Given the description of an element on the screen output the (x, y) to click on. 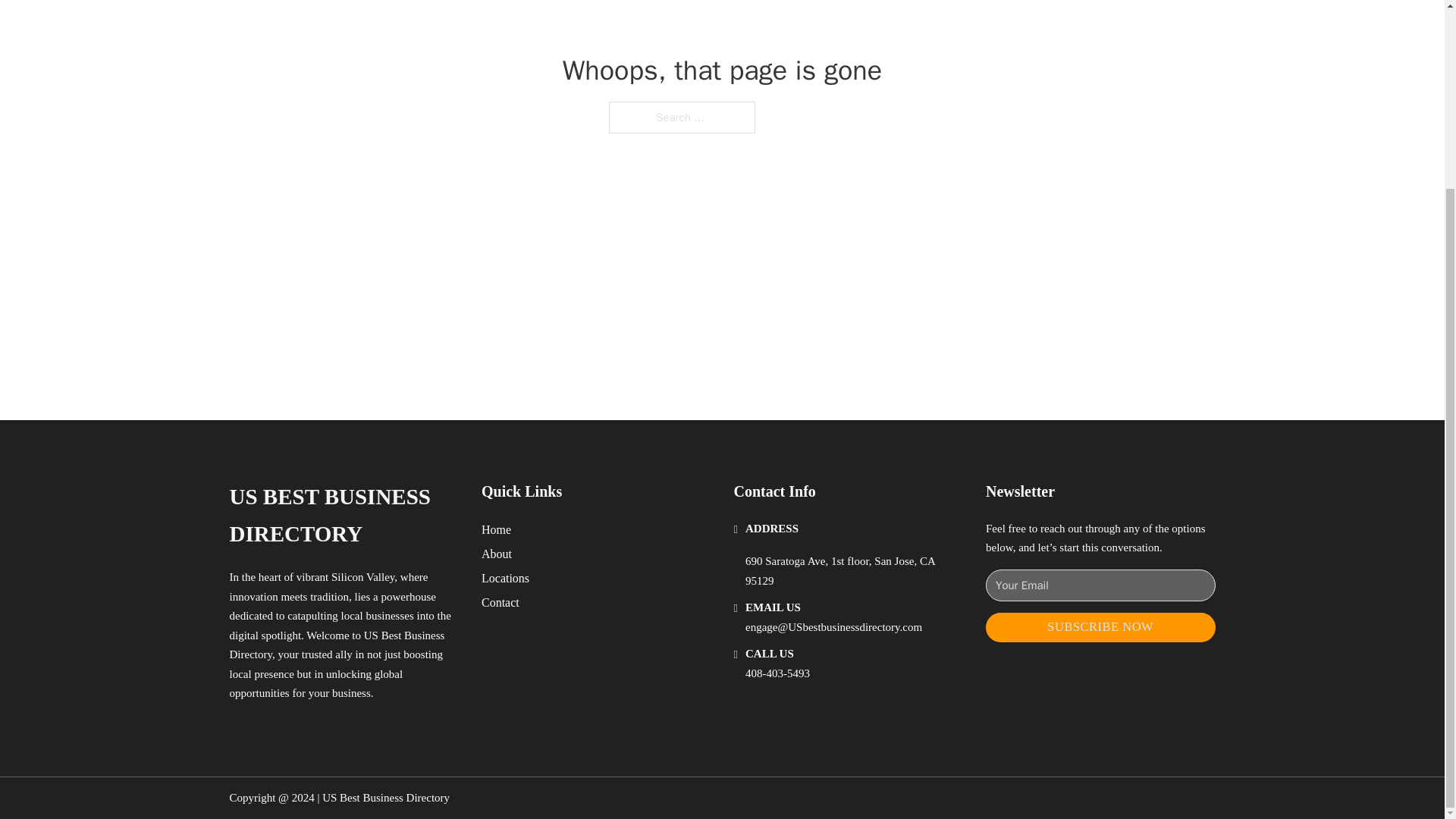
Home (496, 529)
Locations (505, 578)
About (496, 553)
US BEST BUSINESS DIRECTORY (343, 515)
SUBSCRIBE NOW (1100, 627)
408-403-5493 (777, 673)
Contact (500, 602)
